Given the description of an element on the screen output the (x, y) to click on. 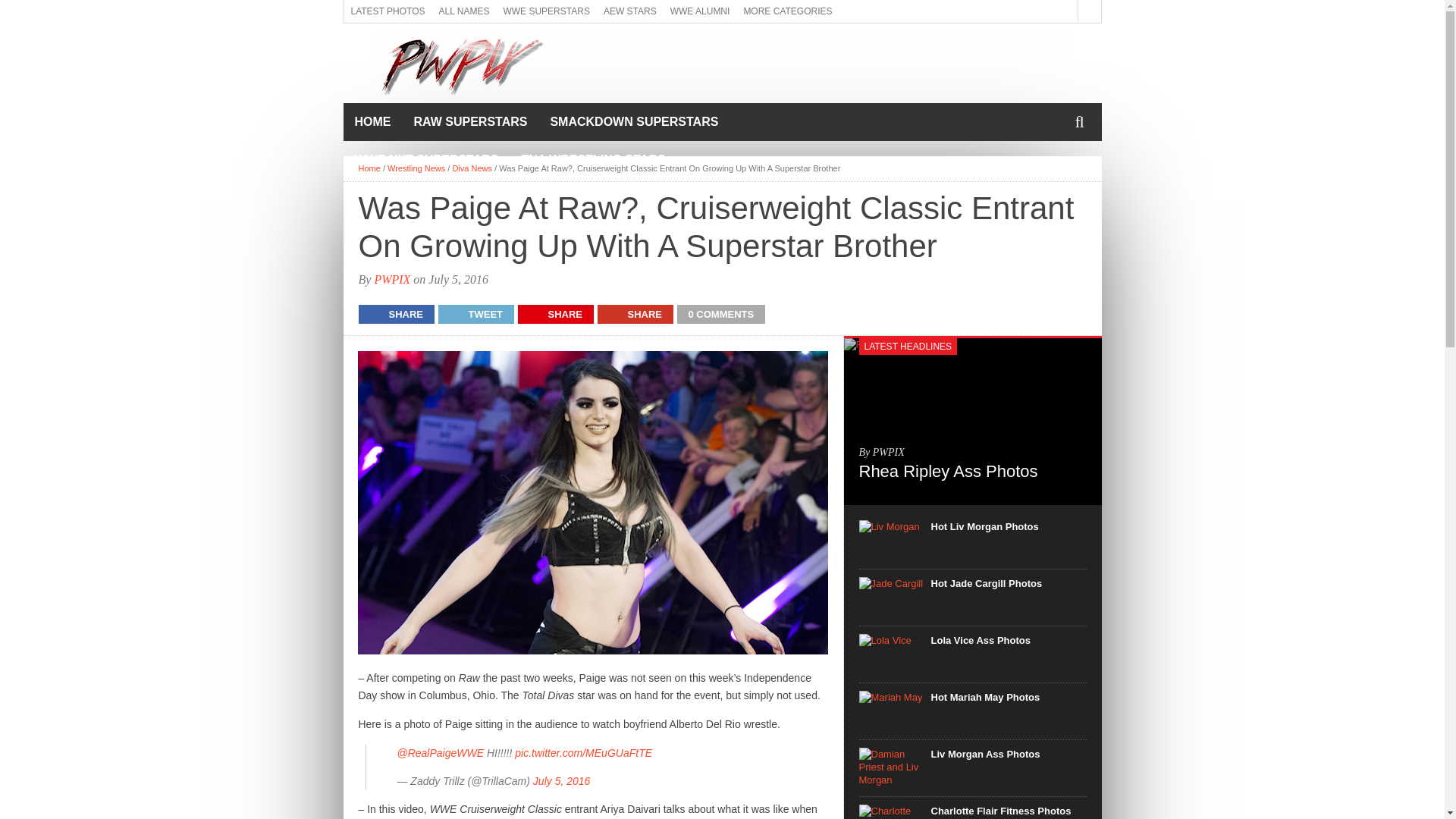
WWE NXT SUPERSTARS (425, 159)
Home (371, 121)
All Elite Wrestling Stars Photos (629, 11)
Wrestling News (416, 167)
AEW STARS (629, 11)
TNA WRESTLING STARS (593, 159)
Home (369, 167)
SMACKDOWN SUPERSTARS (633, 121)
PWPIX (392, 278)
Photo Categories (787, 11)
